Given the description of an element on the screen output the (x, y) to click on. 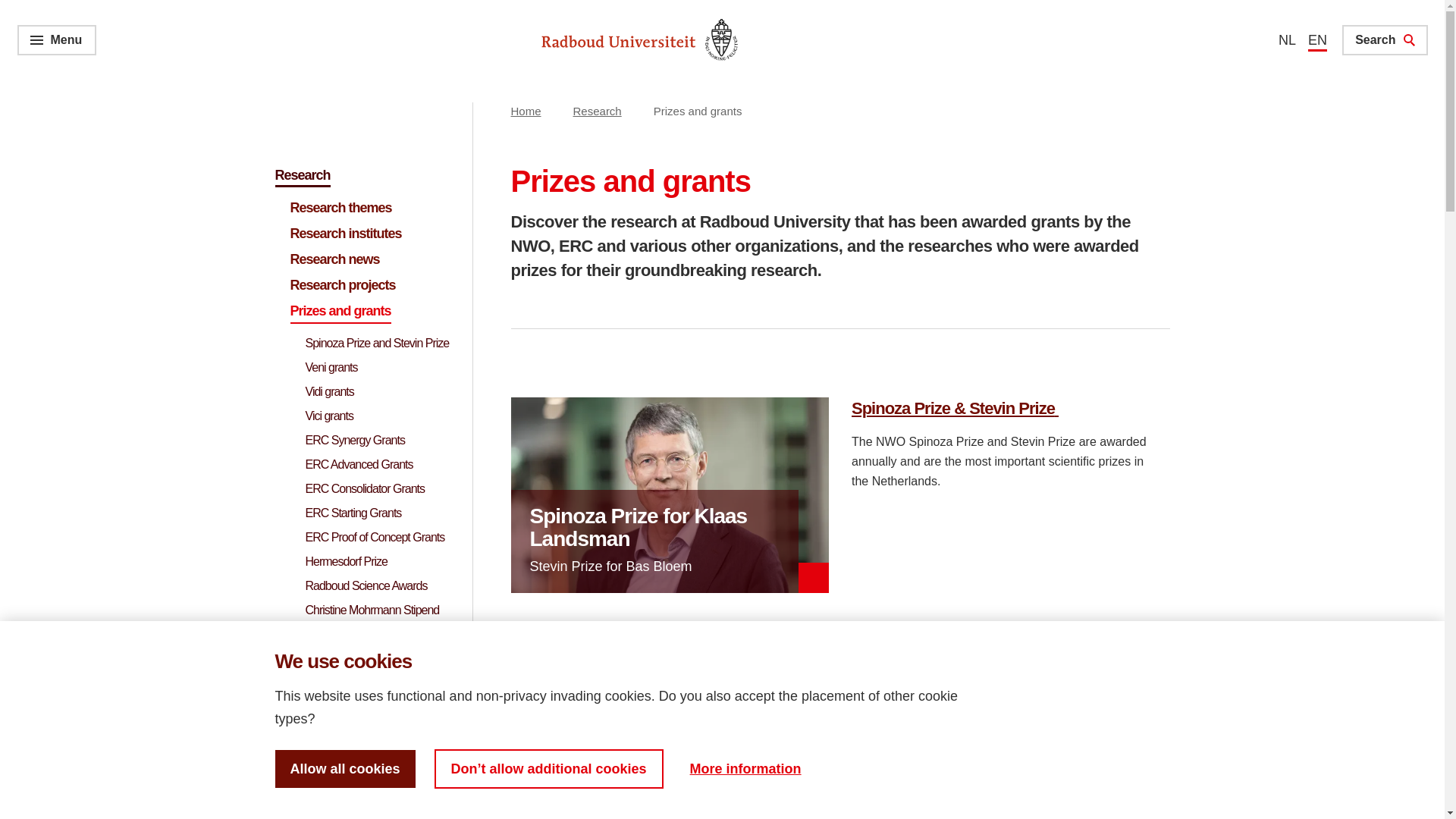
Research projects (368, 284)
